Given the description of an element on the screen output the (x, y) to click on. 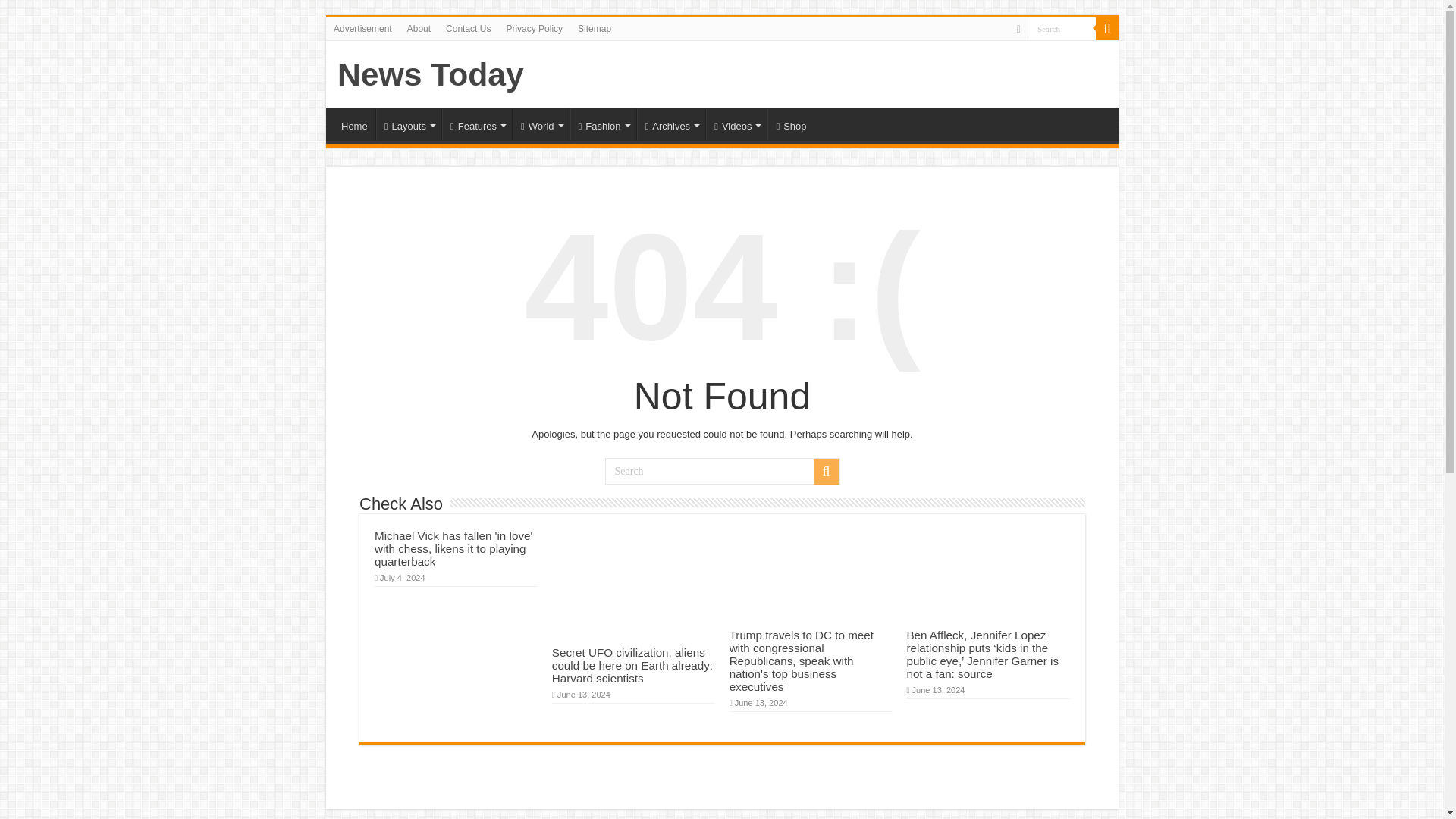
Contact Us (467, 28)
Search (722, 470)
Privacy Policy (533, 28)
News Today (430, 74)
Home (354, 124)
Search (1061, 28)
Features (477, 124)
About (418, 28)
Search (1061, 28)
Rss (1018, 29)
Sitemap (594, 28)
Layouts (408, 124)
Advertisement (362, 28)
Search (1107, 28)
Search (1061, 28)
